Given the description of an element on the screen output the (x, y) to click on. 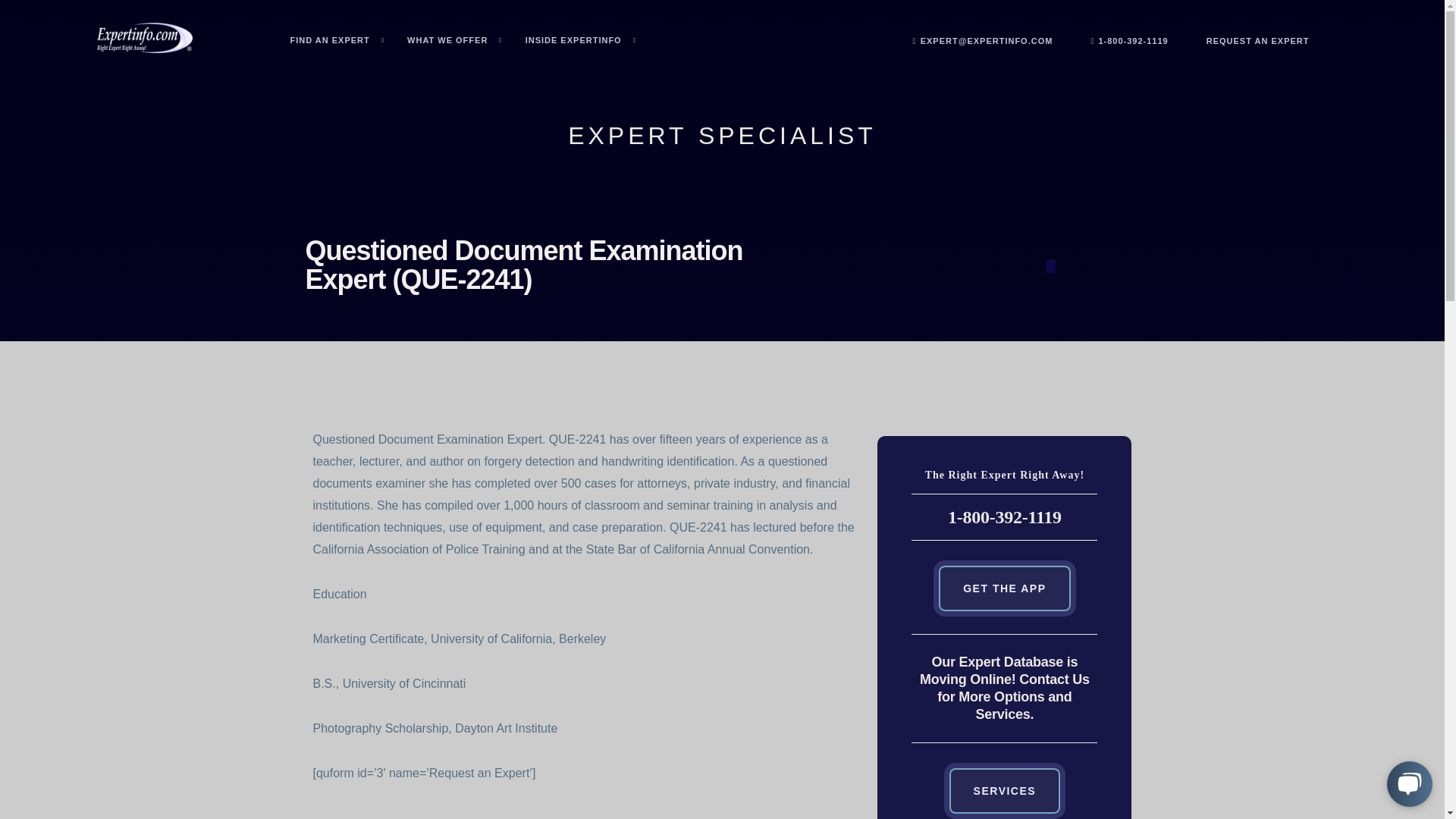
WHAT WE OFFER (454, 40)
What We Offer (454, 40)
Inside Expertinfo (580, 40)
FIND AN EXPERT (336, 40)
INSIDE EXPERTINFO (580, 40)
Find An Expert (336, 40)
REQUEST AN EXPERT (1257, 40)
1-800-392-1119 (1128, 40)
